Given the description of an element on the screen output the (x, y) to click on. 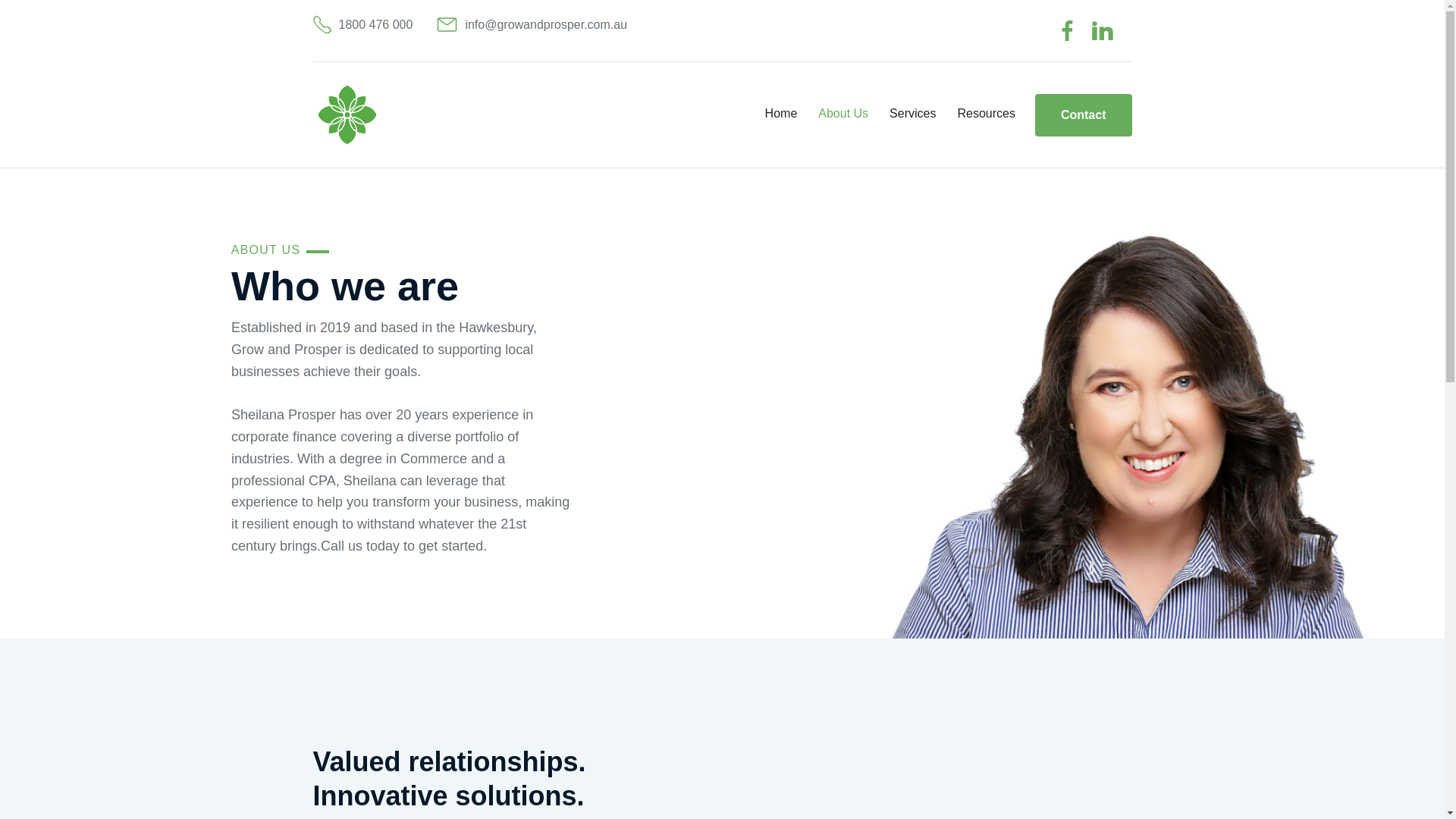
info@growandprosper.com.au Element type: text (531, 24)
Resources Element type: text (985, 113)
About Us Element type: text (842, 113)
1800 476 000 Element type: text (362, 24)
Services Element type: text (912, 113)
Home Element type: text (781, 113)
Contact Element type: text (1083, 115)
